Given the description of an element on the screen output the (x, y) to click on. 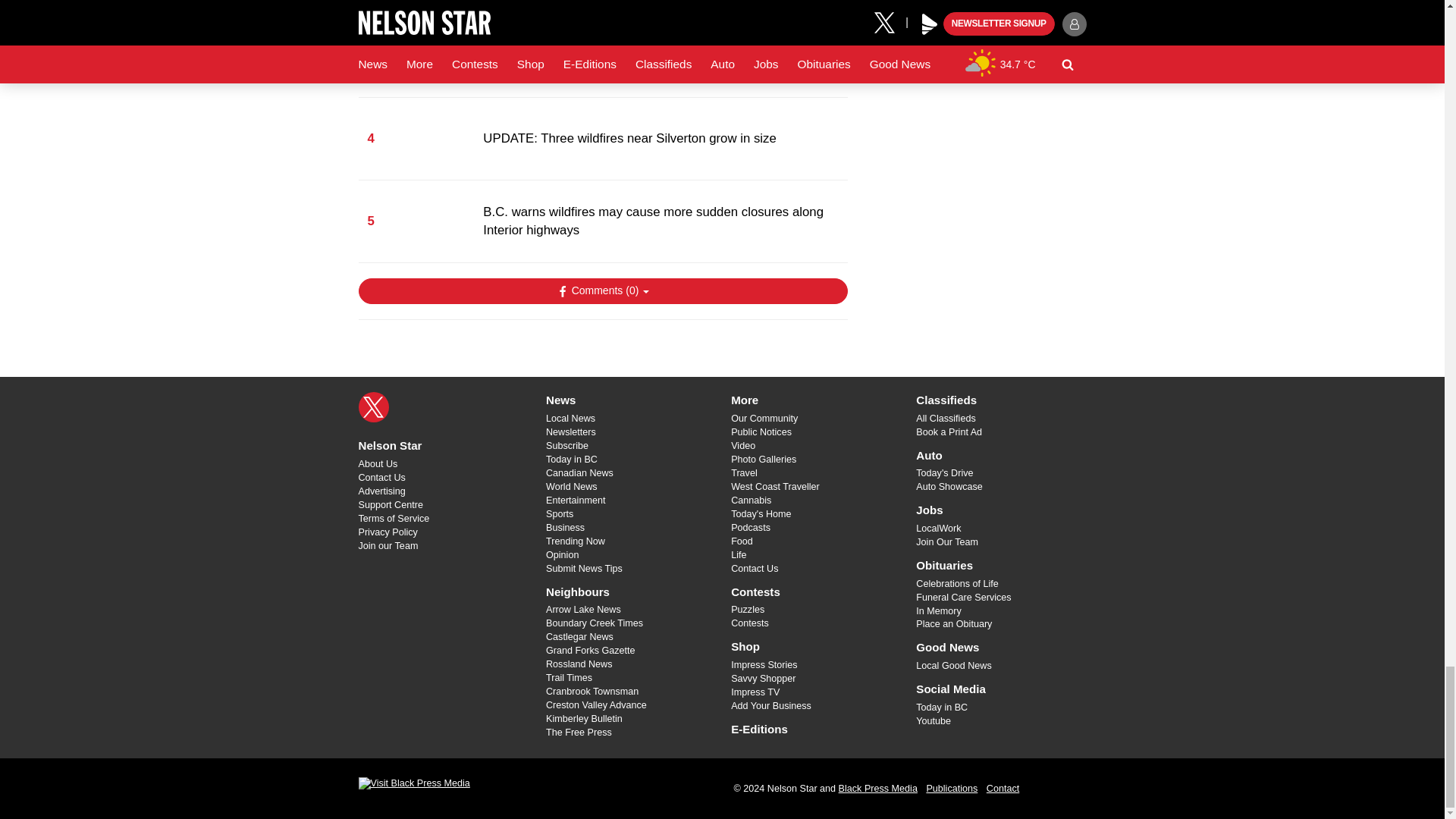
X (373, 407)
Show Comments (602, 290)
